Given the description of an element on the screen output the (x, y) to click on. 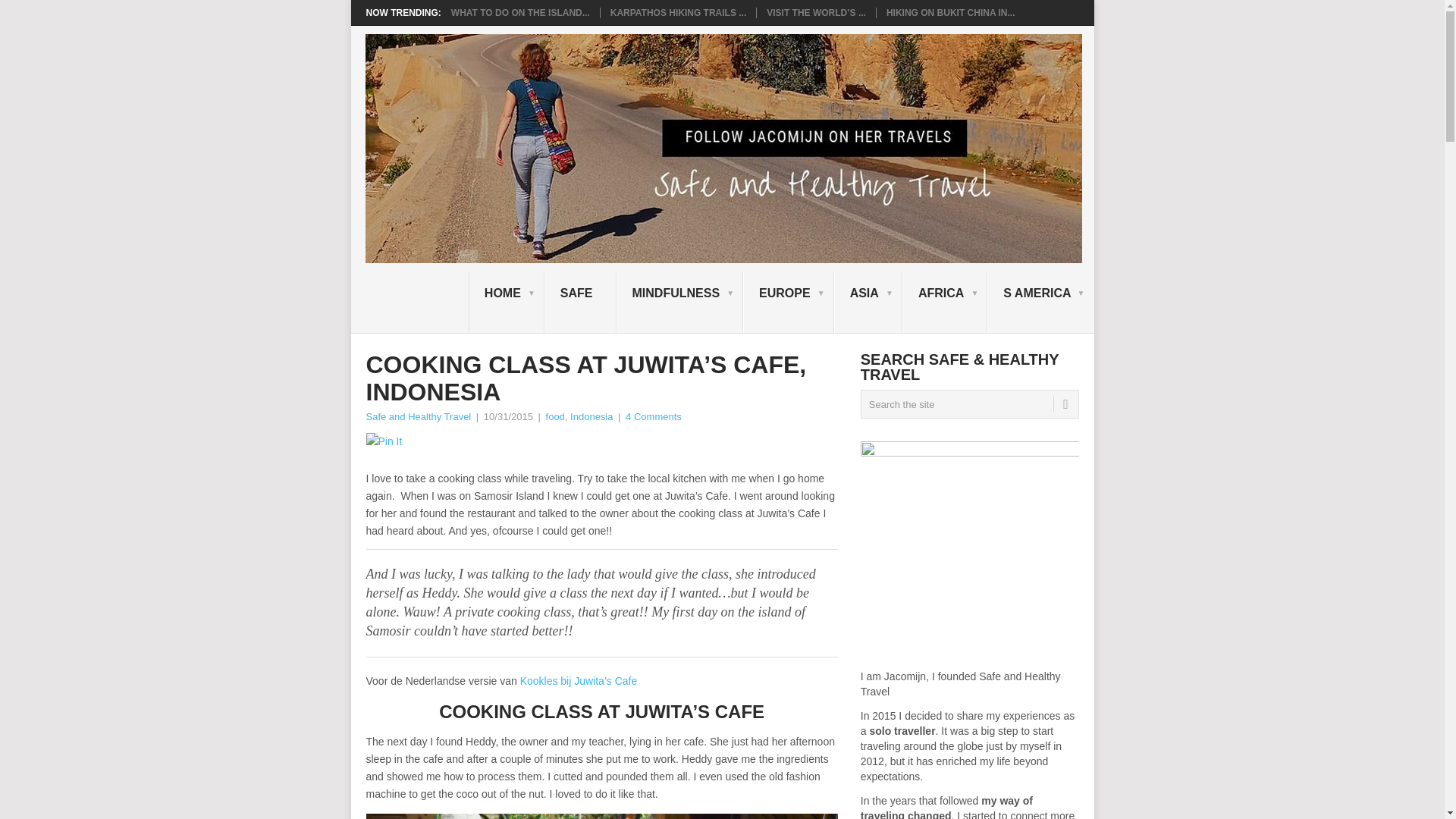
HIKING ON BUKIT CHINA IN... (950, 12)
ASIA (868, 302)
WHAT TO DO ON THE ISLAND... (520, 12)
Search the site (969, 403)
KARPATHOS HIKING TRAILS ... (678, 12)
SAFE (579, 302)
EUROPE (788, 302)
Pin It (383, 441)
MINDFULNESS (678, 302)
HOME (506, 302)
Posts by Safe and Healthy Travel (417, 416)
